Given the description of an element on the screen output the (x, y) to click on. 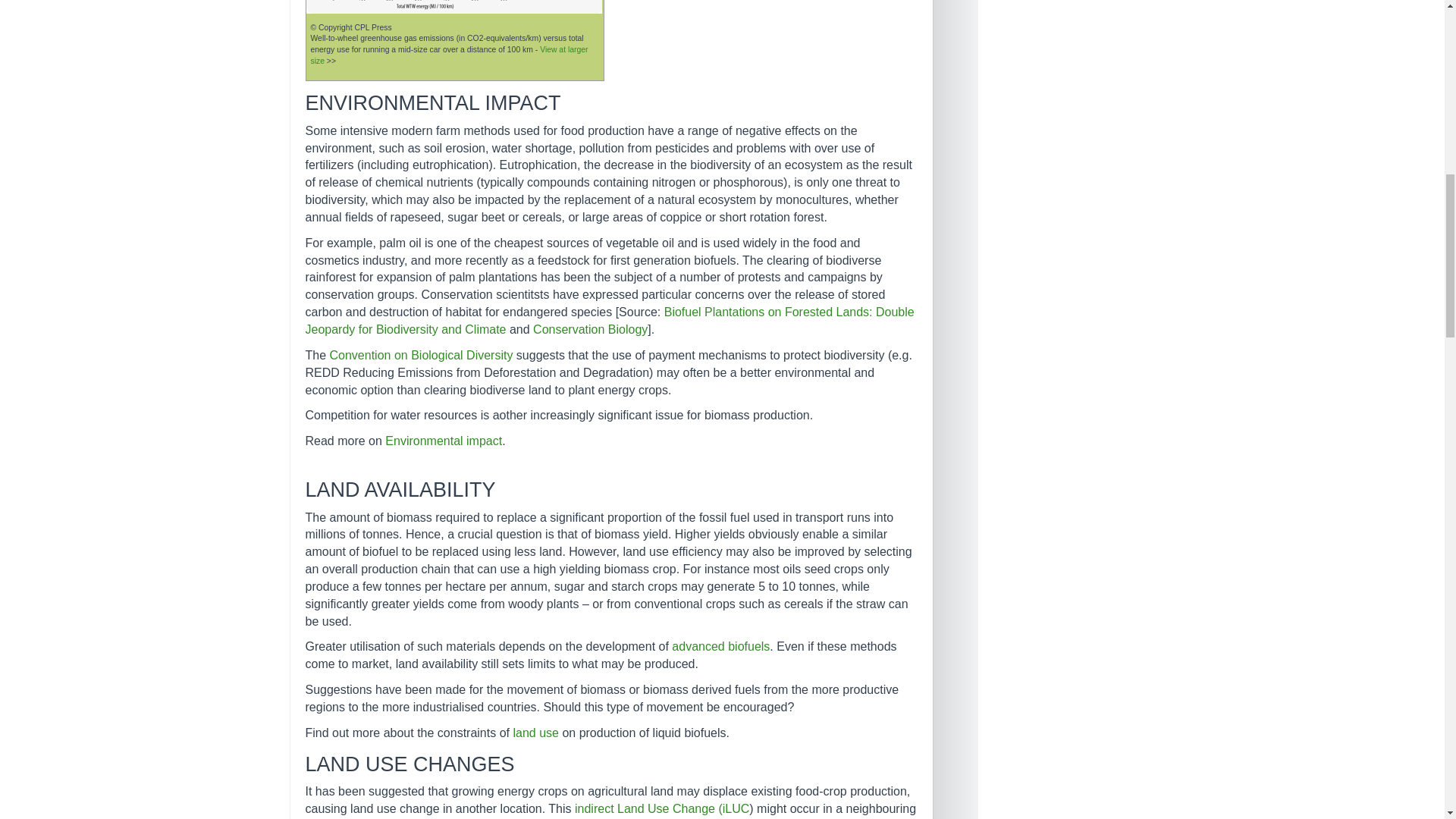
Conservation Biology (589, 328)
